Given the description of an element on the screen output the (x, y) to click on. 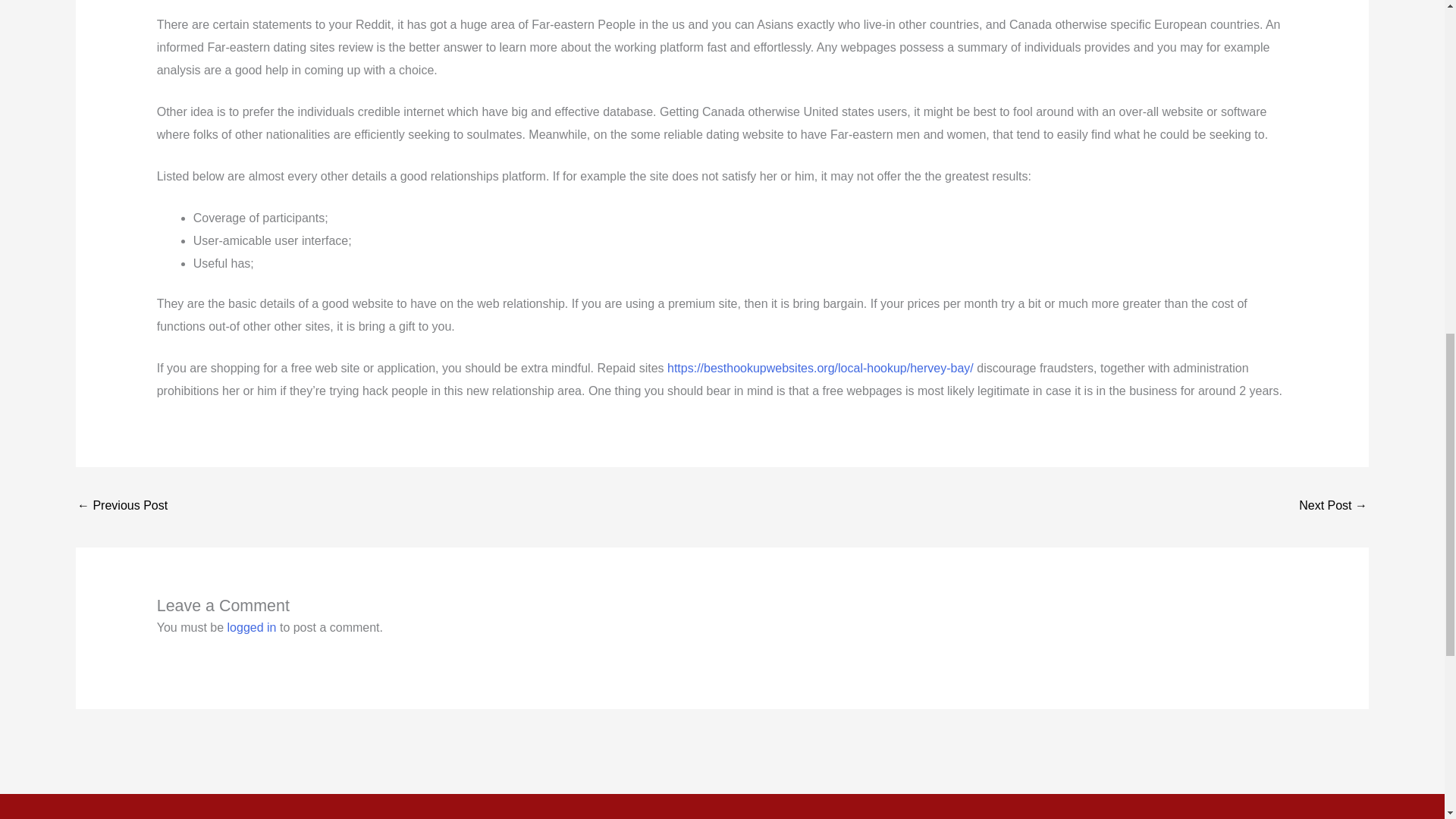
logged in (251, 626)
Seven Shocks on the a date Which have a good Thai (1332, 506)
